Given the description of an element on the screen output the (x, y) to click on. 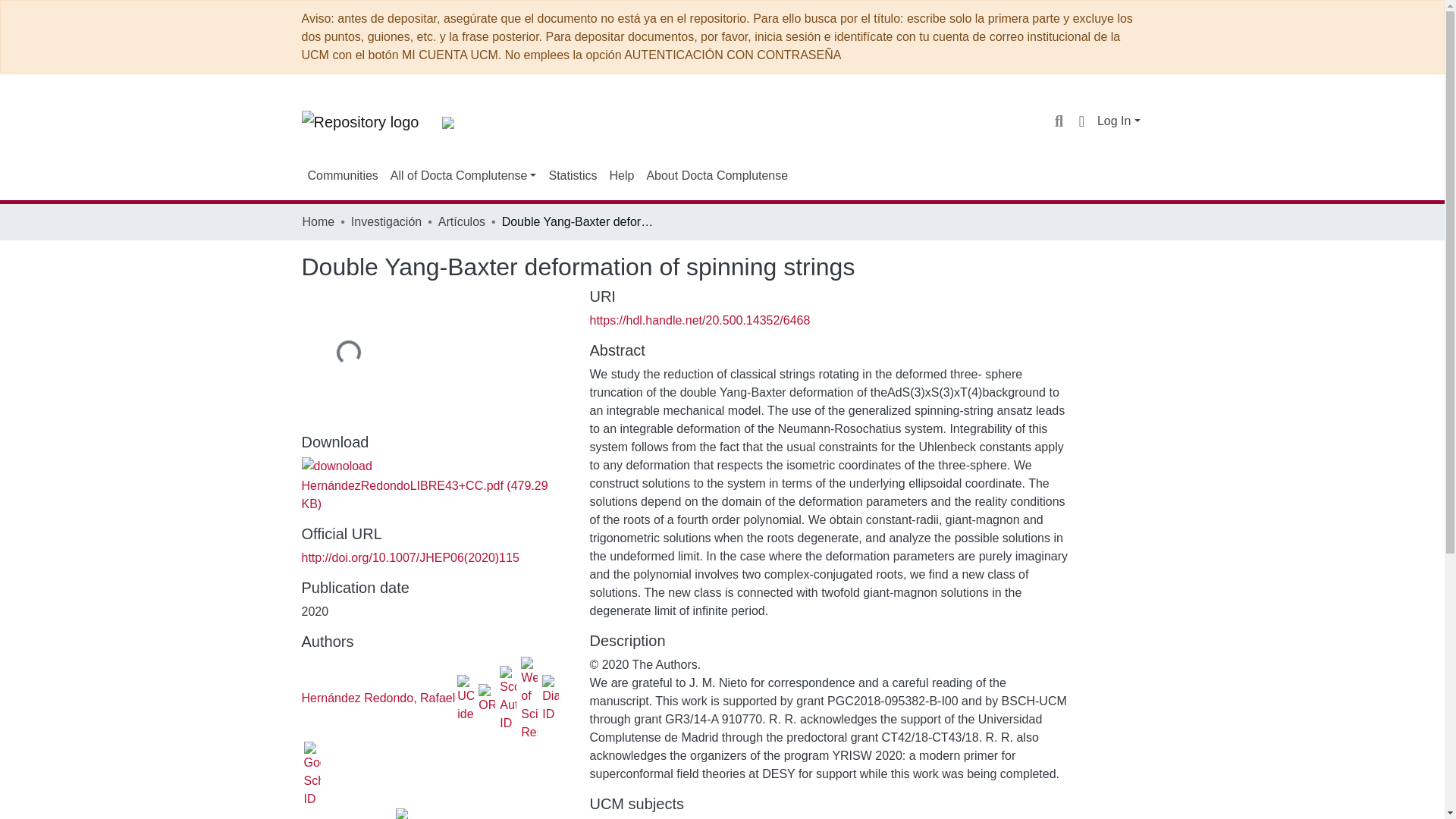
About Docta Complutense (716, 175)
Statistics (571, 175)
Communities (342, 175)
Communities (342, 175)
About Docta Complutense (716, 175)
Home (317, 221)
Statistics (571, 175)
Log In (1118, 120)
UCM identifier (404, 813)
All of Docta Complutense (463, 175)
